Given the description of an element on the screen output the (x, y) to click on. 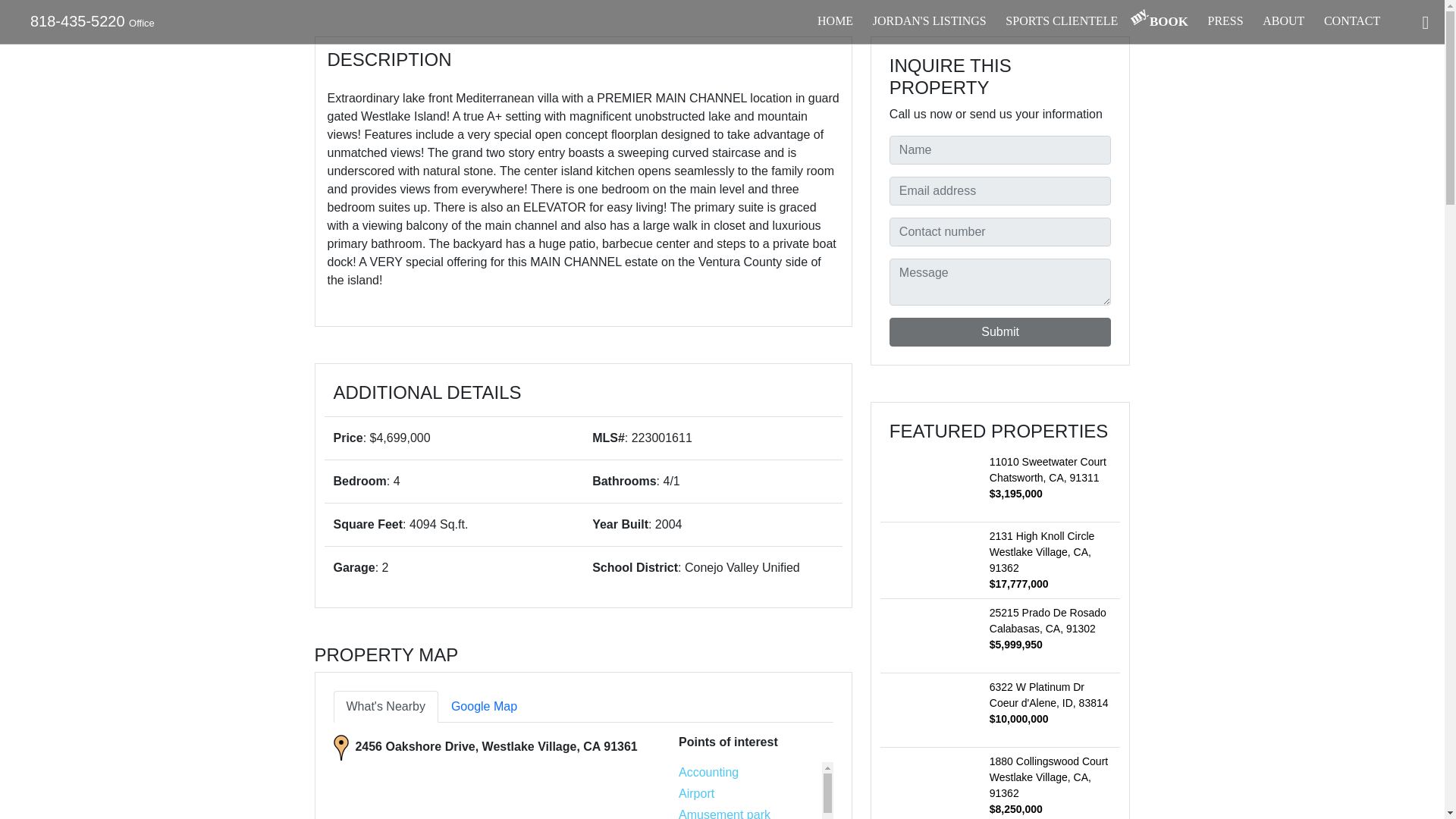
CONTACT (1351, 21)
Accounting (708, 771)
ABOUT (1283, 21)
Google Map (483, 706)
Amusement park (724, 813)
HOME (834, 21)
PRESS (1225, 21)
818-435-5220 Office (85, 21)
Airport (696, 793)
